Given the description of an element on the screen output the (x, y) to click on. 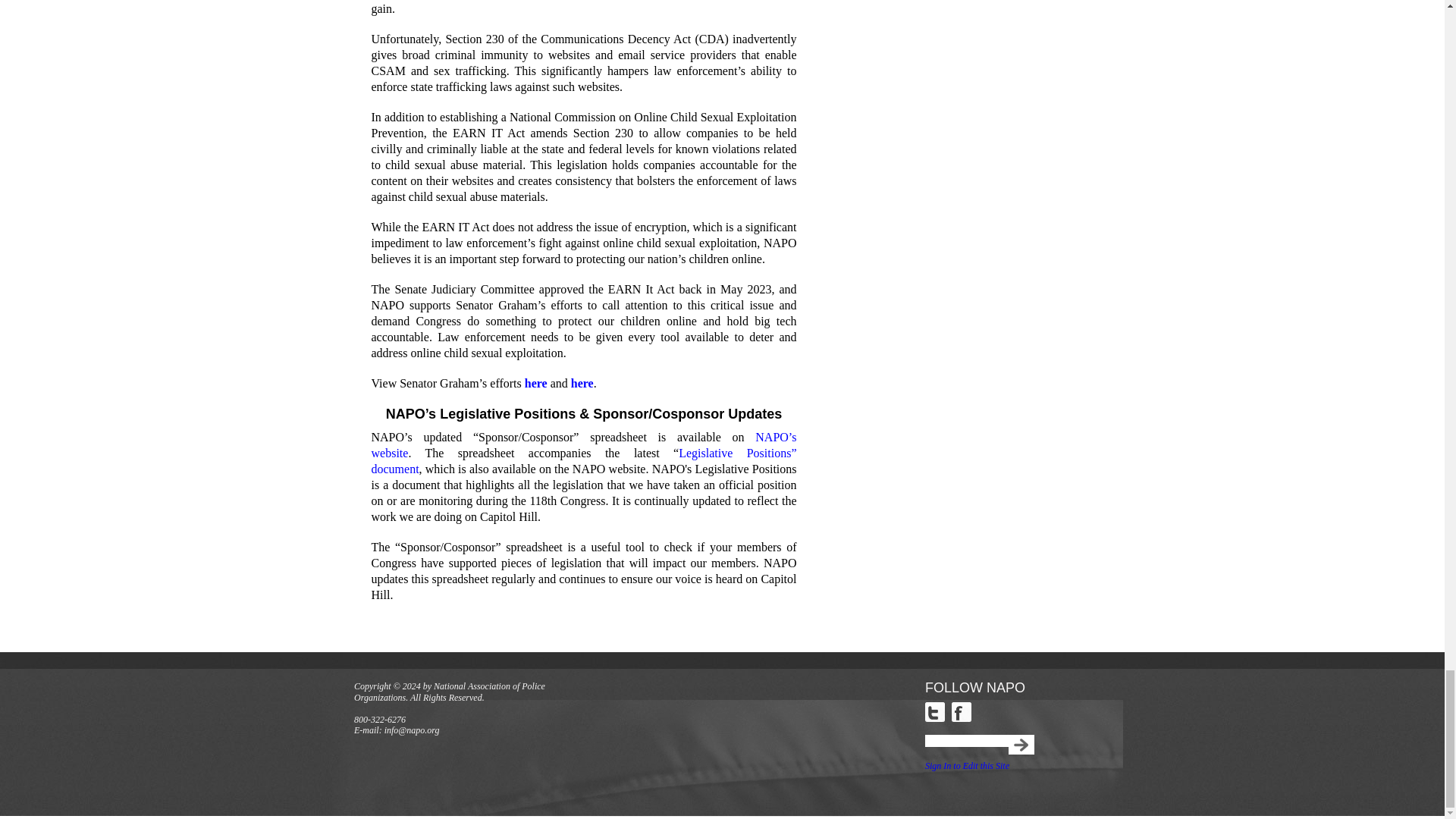
Like NAPO on Facebook (961, 711)
Follow NAPO on Twitter (934, 711)
